Given the description of an element on the screen output the (x, y) to click on. 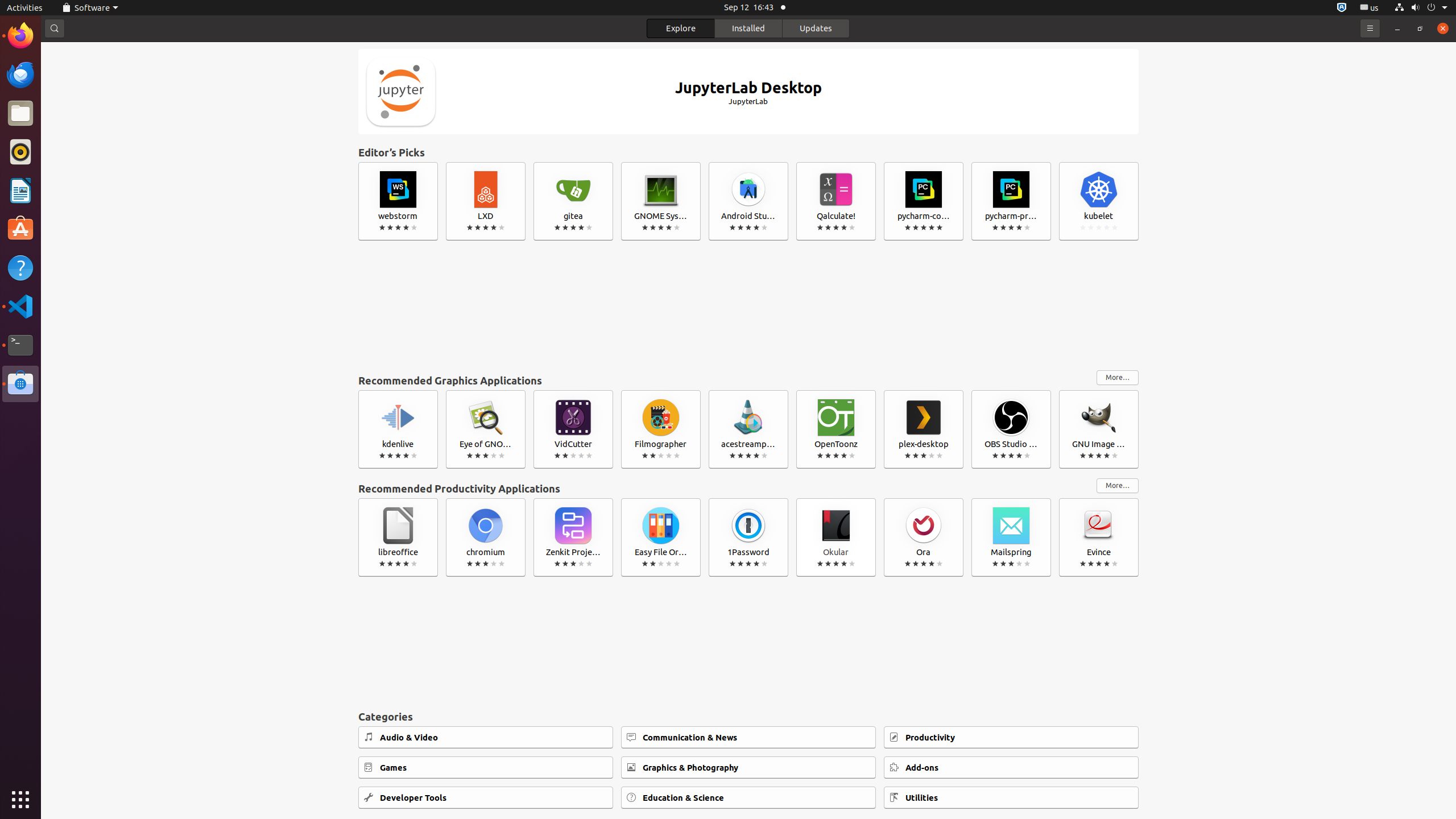
plex-desktop Element type: push-button (923, 429)
Eye of GNOME Element type: push-button (485, 429)
Zenkit Projects Element type: push-button (573, 537)
1Password Element type: push-button (748, 537)
